Given the description of an element on the screen output the (x, y) to click on. 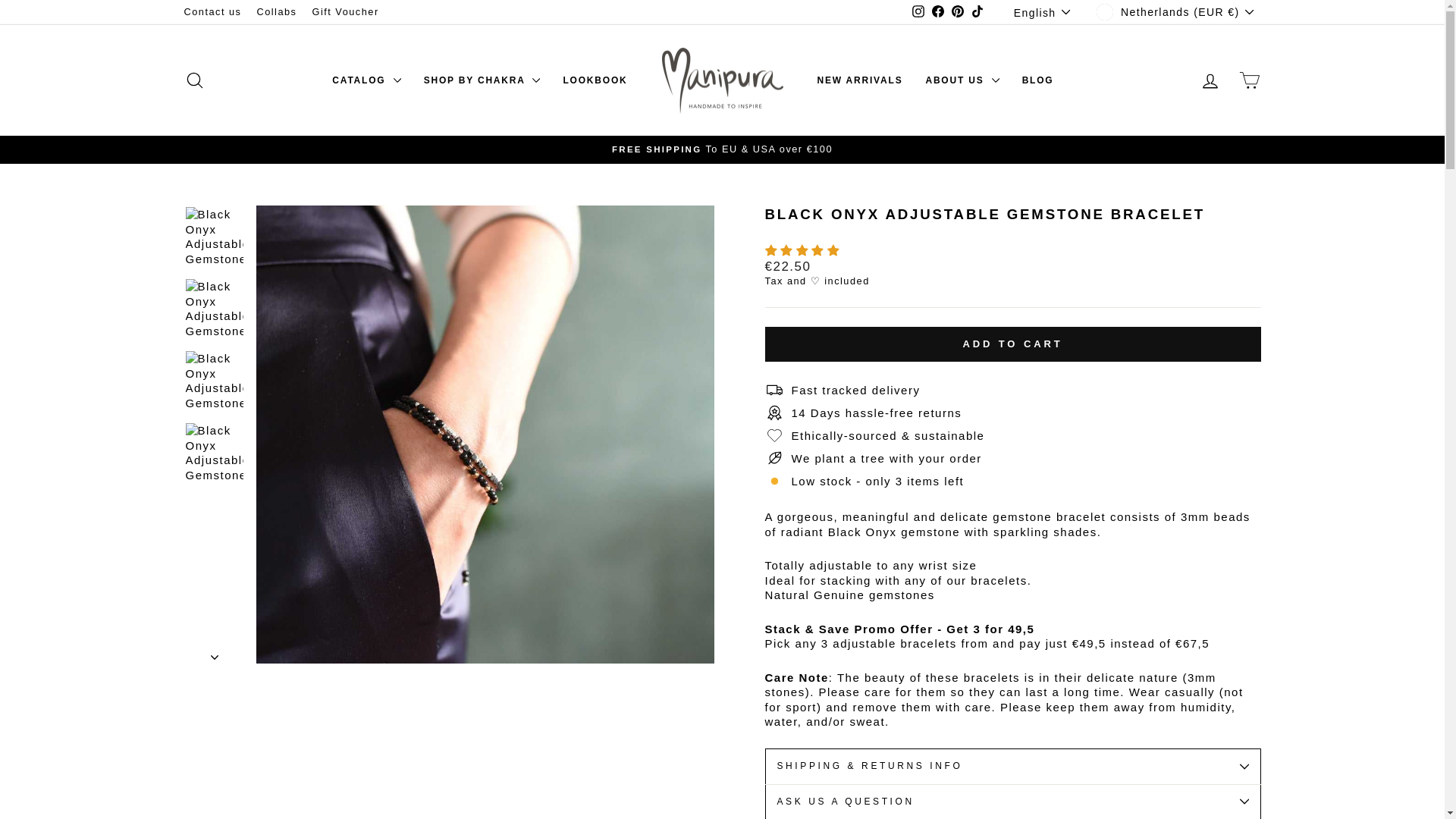
instagram (918, 10)
Manipura Malas on Instagram (918, 12)
ICON-SEARCH (194, 79)
icon-chevron (214, 657)
Manipura Malas on TikTok (977, 12)
Manipura Malas on Pinterest (957, 12)
Manipura Malas on Facebook (937, 12)
ACCOUNT (1210, 80)
